Given the description of an element on the screen output the (x, y) to click on. 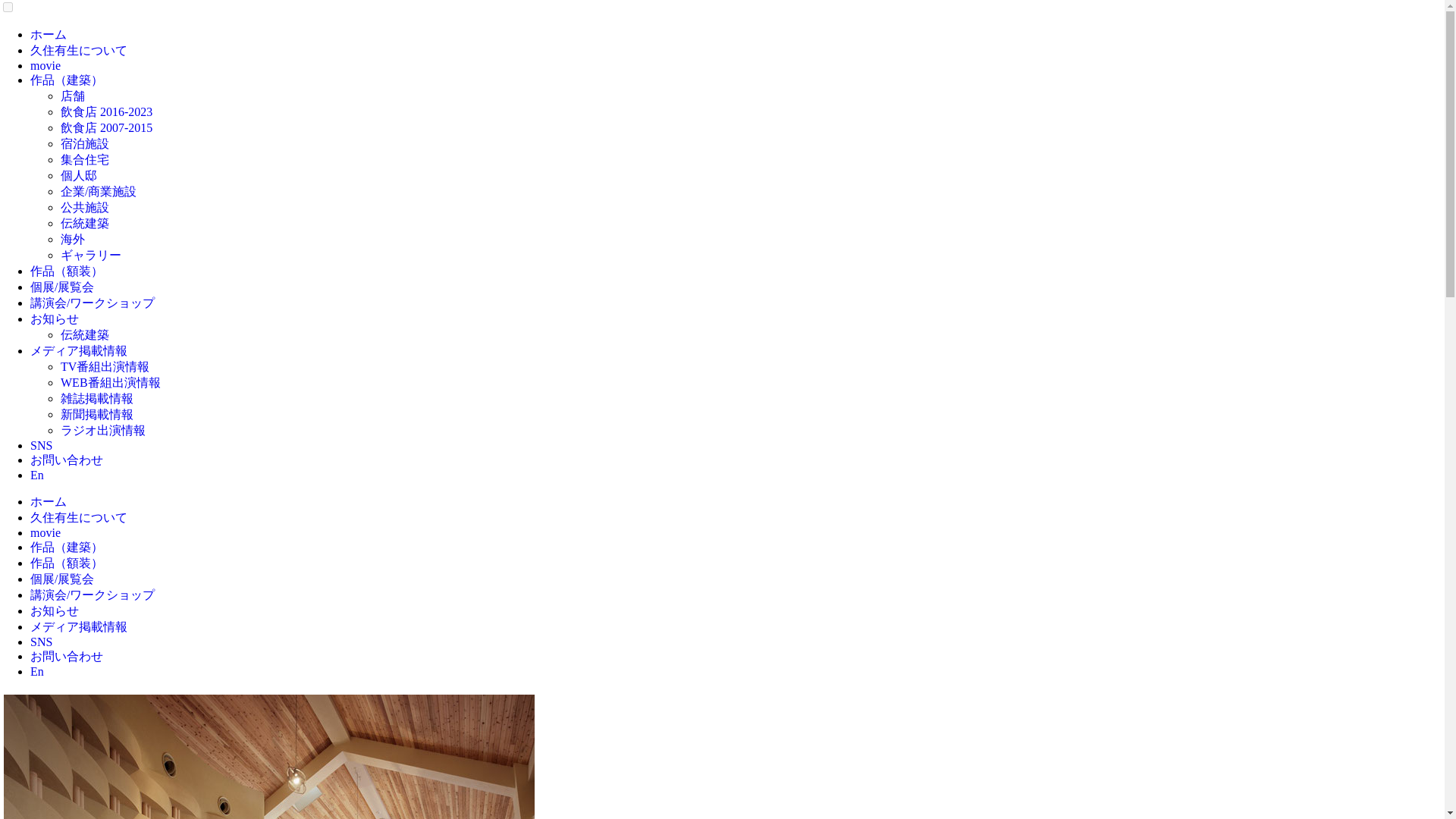
SNS (41, 445)
movie (45, 532)
En (36, 474)
SNS (41, 641)
movie (45, 65)
on (7, 7)
